Given the description of an element on the screen output the (x, y) to click on. 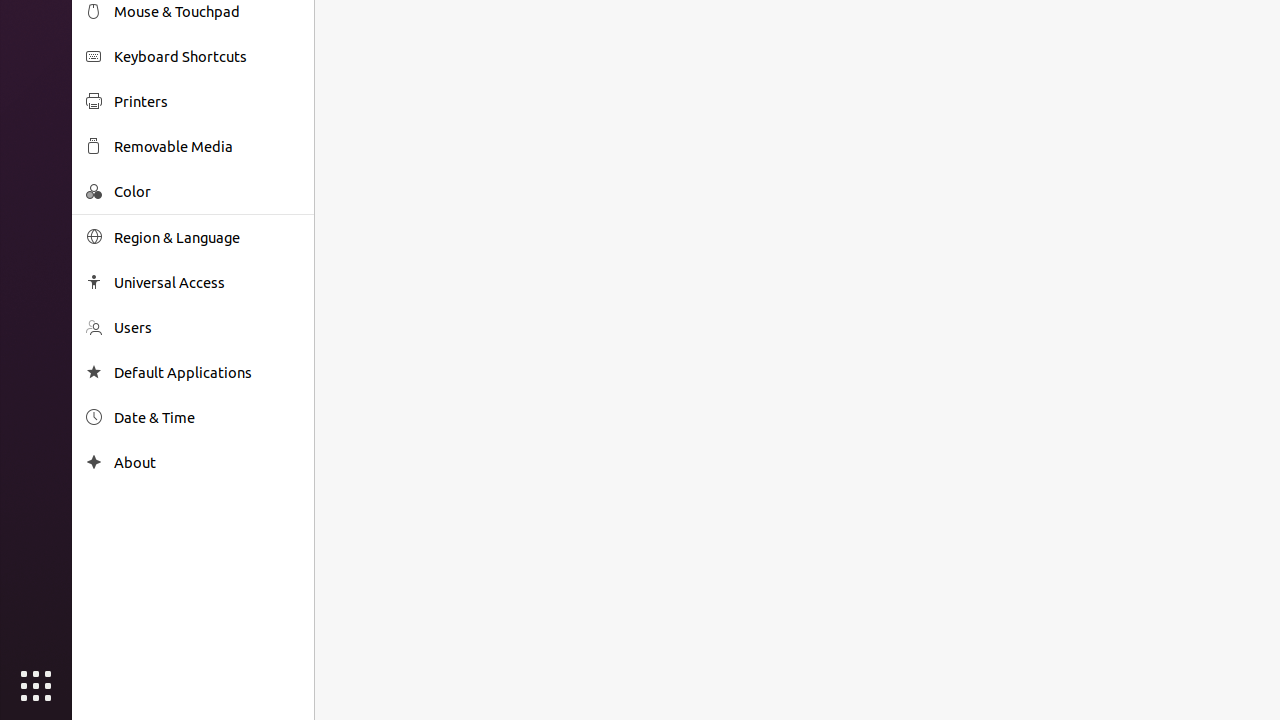
Default Applications Element type: label (207, 372)
Mouse & Touchpad Element type: label (207, 11)
About Element type: icon (94, 462)
Universal Access Element type: label (207, 282)
About Element type: label (207, 462)
